Given the description of an element on the screen output the (x, y) to click on. 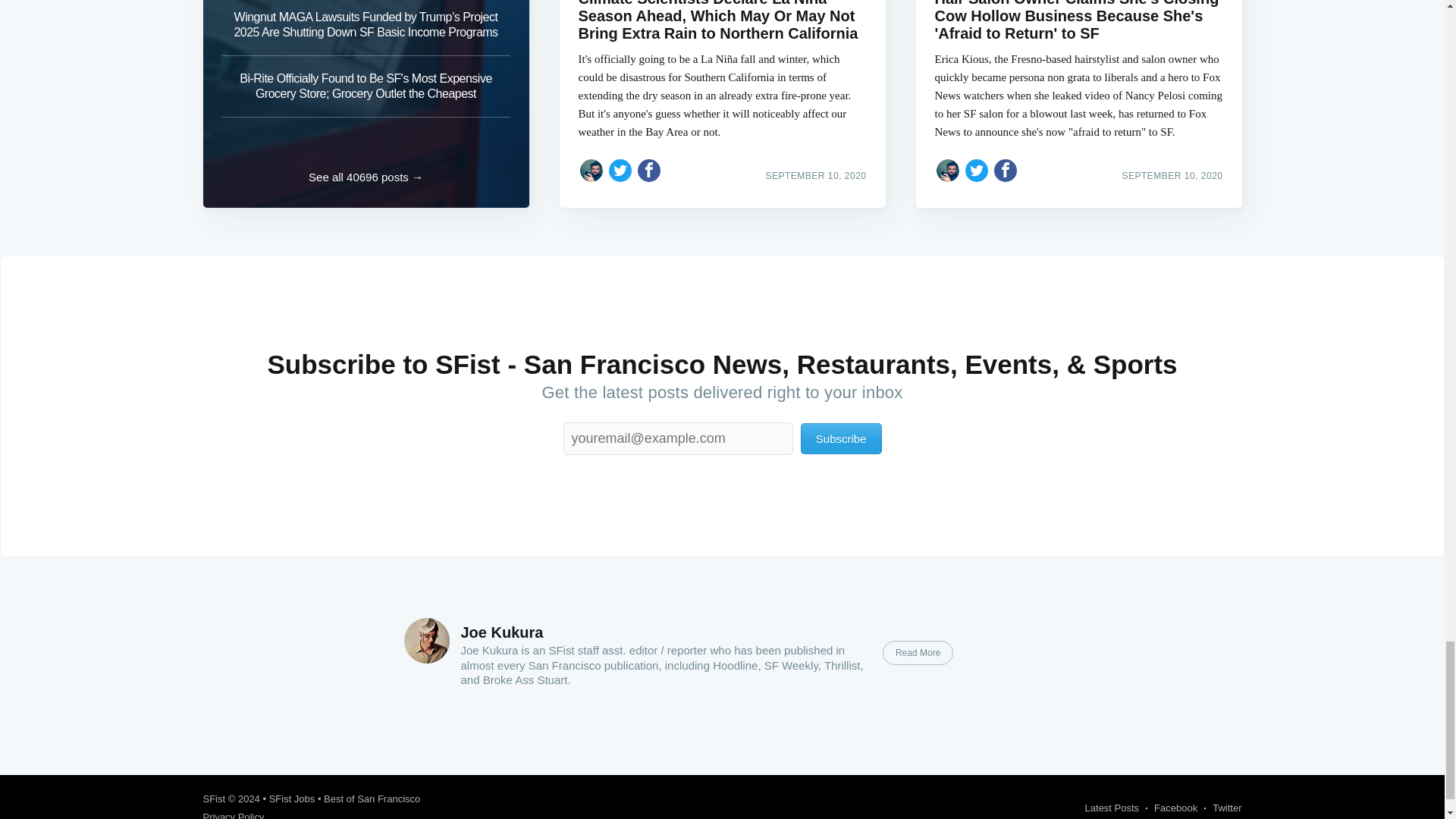
Share on Facebook (649, 170)
Share on Twitter (976, 170)
Share on Facebook (1004, 170)
Share on Twitter (620, 170)
